Given the description of an element on the screen output the (x, y) to click on. 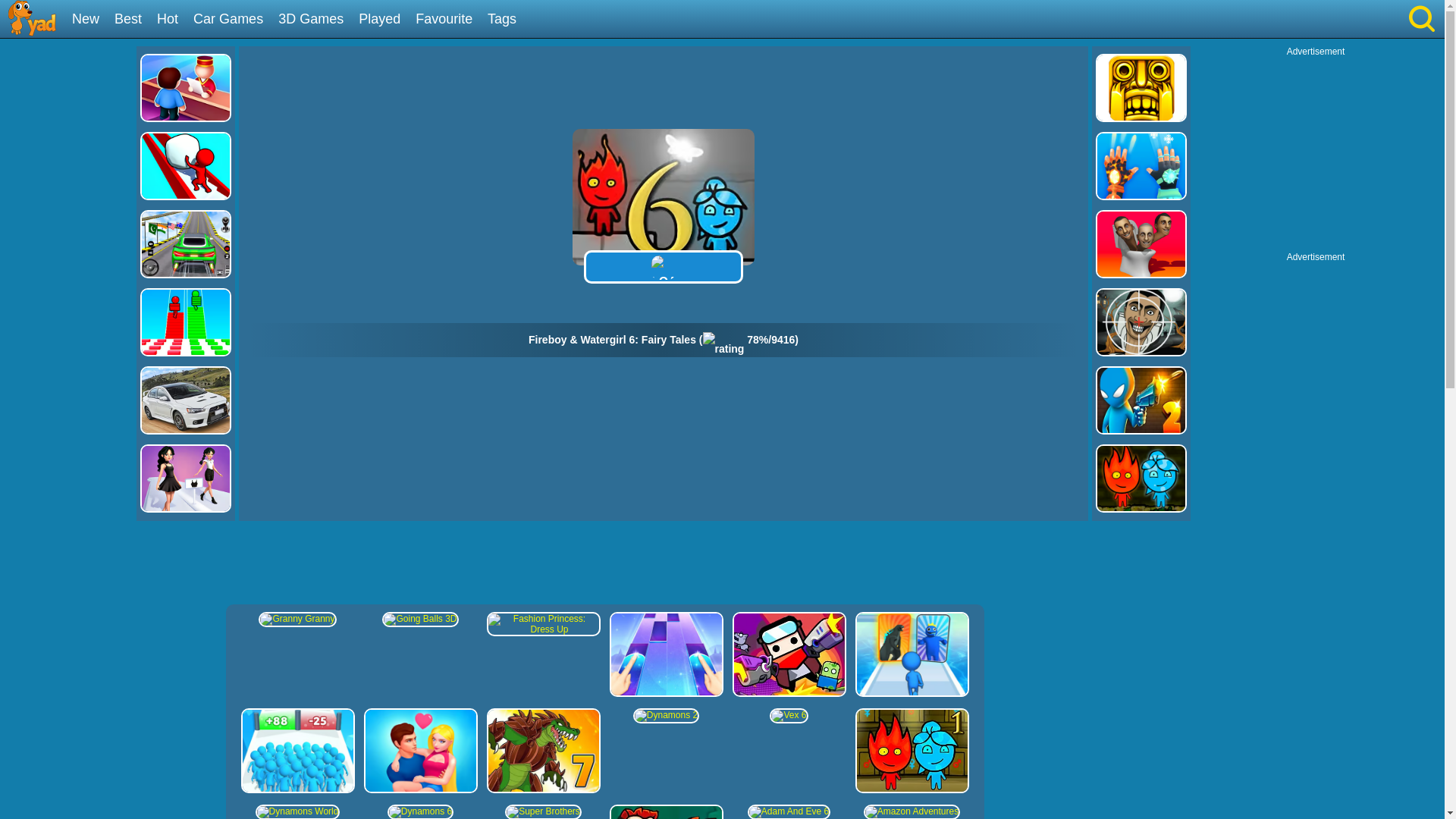
Favourite (448, 20)
Hot (173, 20)
Best (133, 20)
3D Games (316, 20)
Played (385, 20)
New (90, 20)
Car Games (234, 20)
Tags (507, 20)
